Given the description of an element on the screen output the (x, y) to click on. 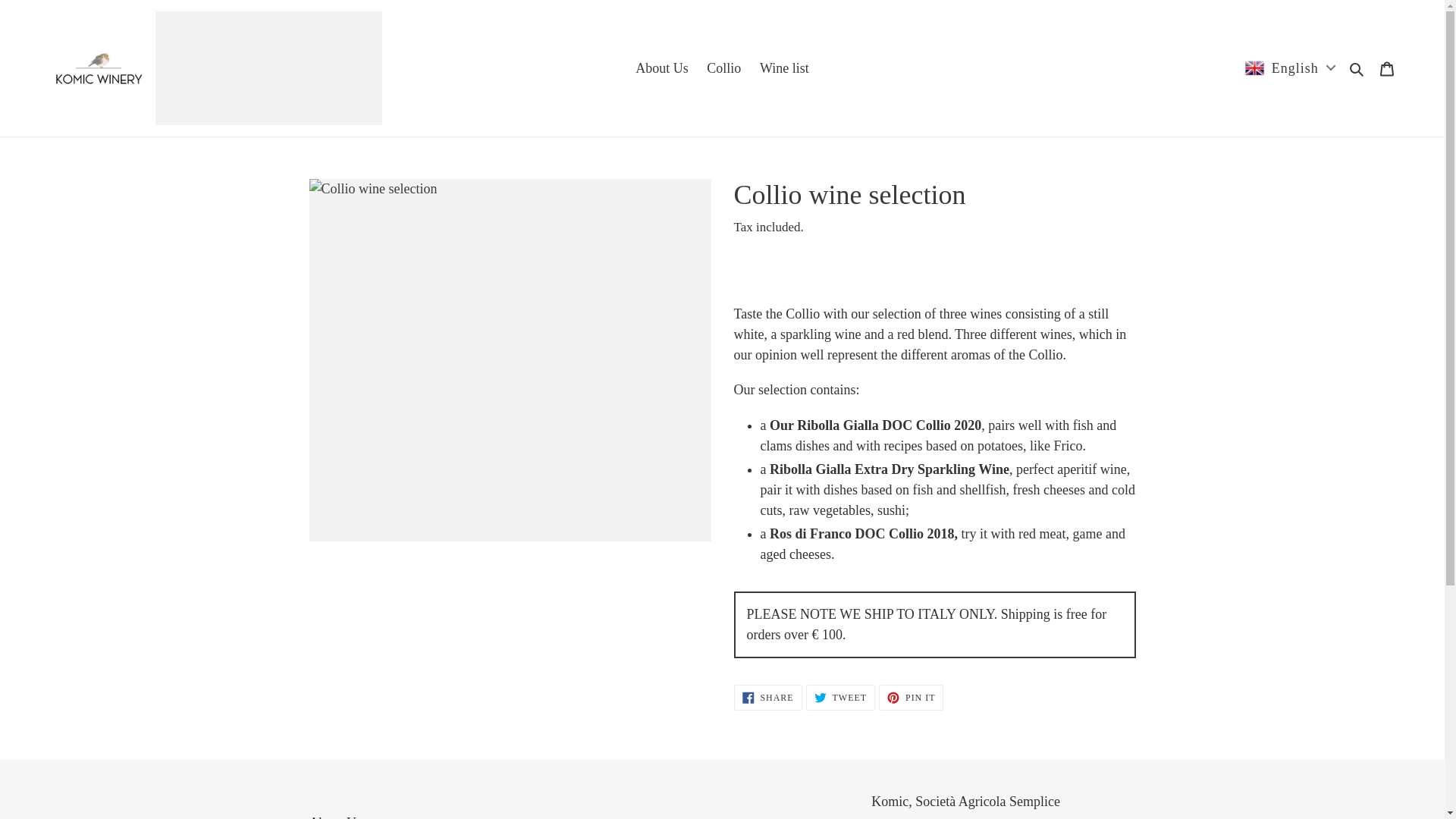
About Us (840, 697)
Collio (335, 816)
Cart (723, 68)
Search (1387, 67)
Wine list (1357, 68)
About Us (784, 68)
